Given the description of an element on the screen output the (x, y) to click on. 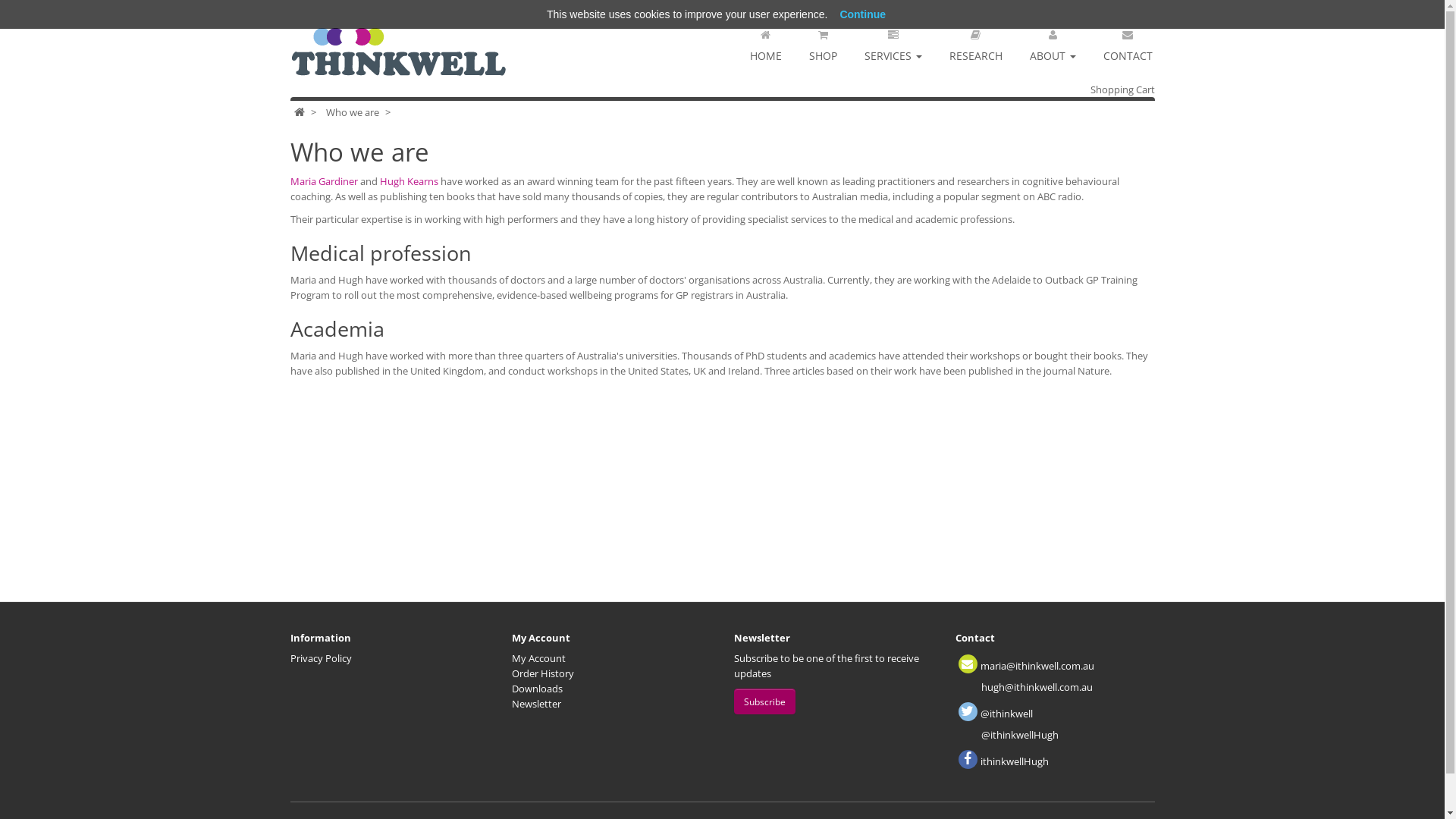
@ithinkwell Element type: text (1006, 713)
Newsletter Element type: text (536, 703)
Shopping Cart Element type: text (1122, 89)
hugh@ithinkwell.com.au Element type: text (1036, 686)
HOME Element type: text (764, 40)
maria@ithinkwell.com.au Element type: text (1037, 665)
Order History Element type: text (542, 673)
Downloads Element type: text (536, 688)
SERVICES Element type: text (892, 40)
Who we are Element type: text (352, 112)
Continue Element type: text (862, 14)
Hugh Kearns Element type: text (408, 181)
Maria Gardiner Element type: text (323, 181)
ABOUT Element type: text (1052, 40)
ThinkWell Element type: hover (400, 53)
RESEARCH Element type: text (975, 40)
CONTACT Element type: text (1126, 40)
Privacy Policy Element type: text (320, 658)
ithinkwellHugh Element type: text (1014, 761)
SHOP Element type: text (822, 40)
Subscribe Element type: text (764, 701)
My Account Element type: text (538, 658)
@ithinkwellHugh Element type: text (1019, 734)
